Given the description of an element on the screen output the (x, y) to click on. 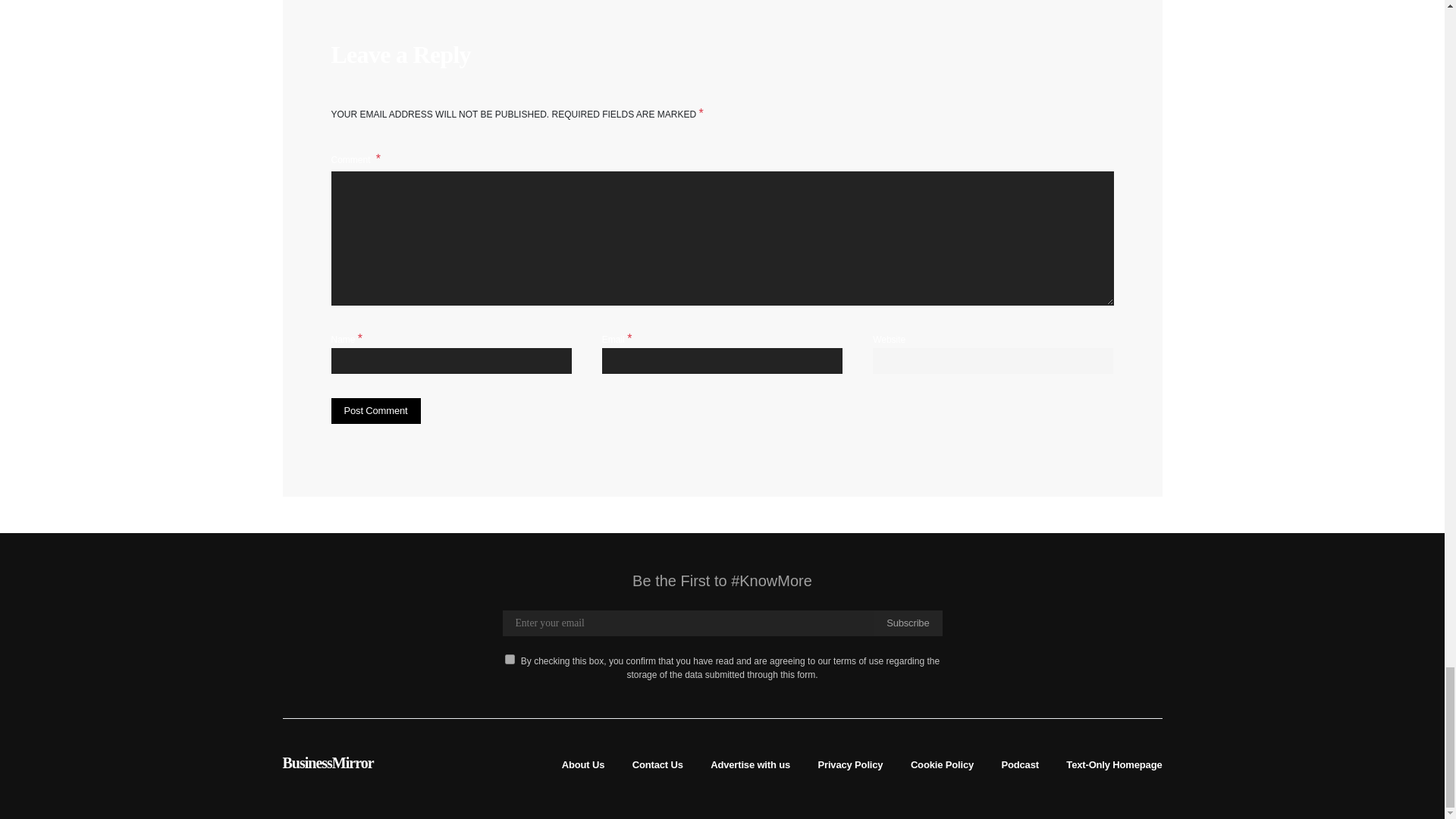
on (510, 659)
Post Comment (375, 411)
